Given the description of an element on the screen output the (x, y) to click on. 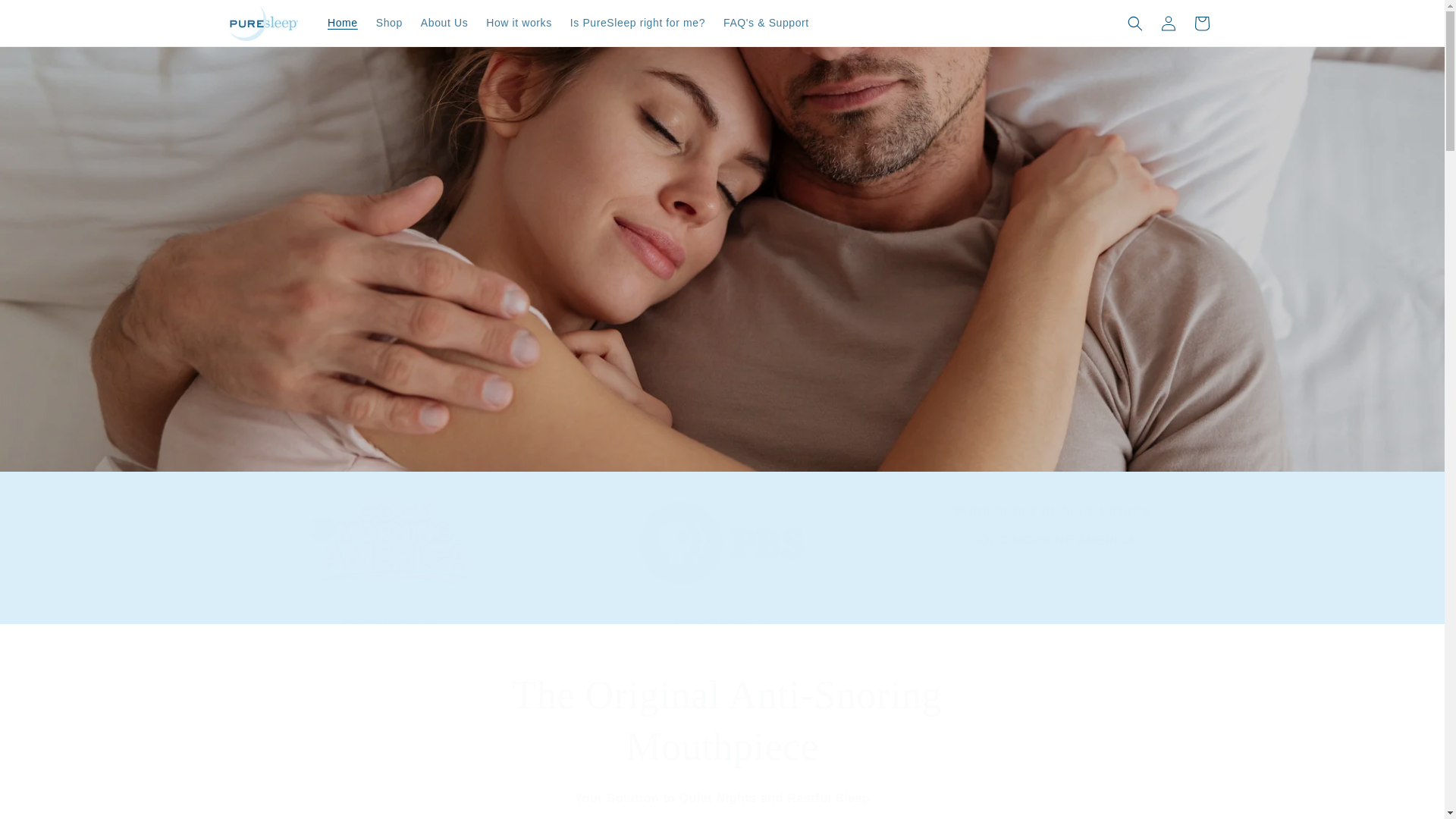
About Us (444, 22)
Cart (1201, 22)
Watch Video  (390, 625)
 The Original Anti-Snoring Mouthpiece (721, 720)
Skip to content (45, 17)
Is PureSleep right for me? (637, 22)
Watch Video  (390, 578)
Watch Video  (721, 578)
Watch Video  (721, 625)
Home (342, 22)
Buy from The Pure Sleep Company (1051, 578)
How it works (722, 343)
Shop (518, 22)
